Given the description of an element on the screen output the (x, y) to click on. 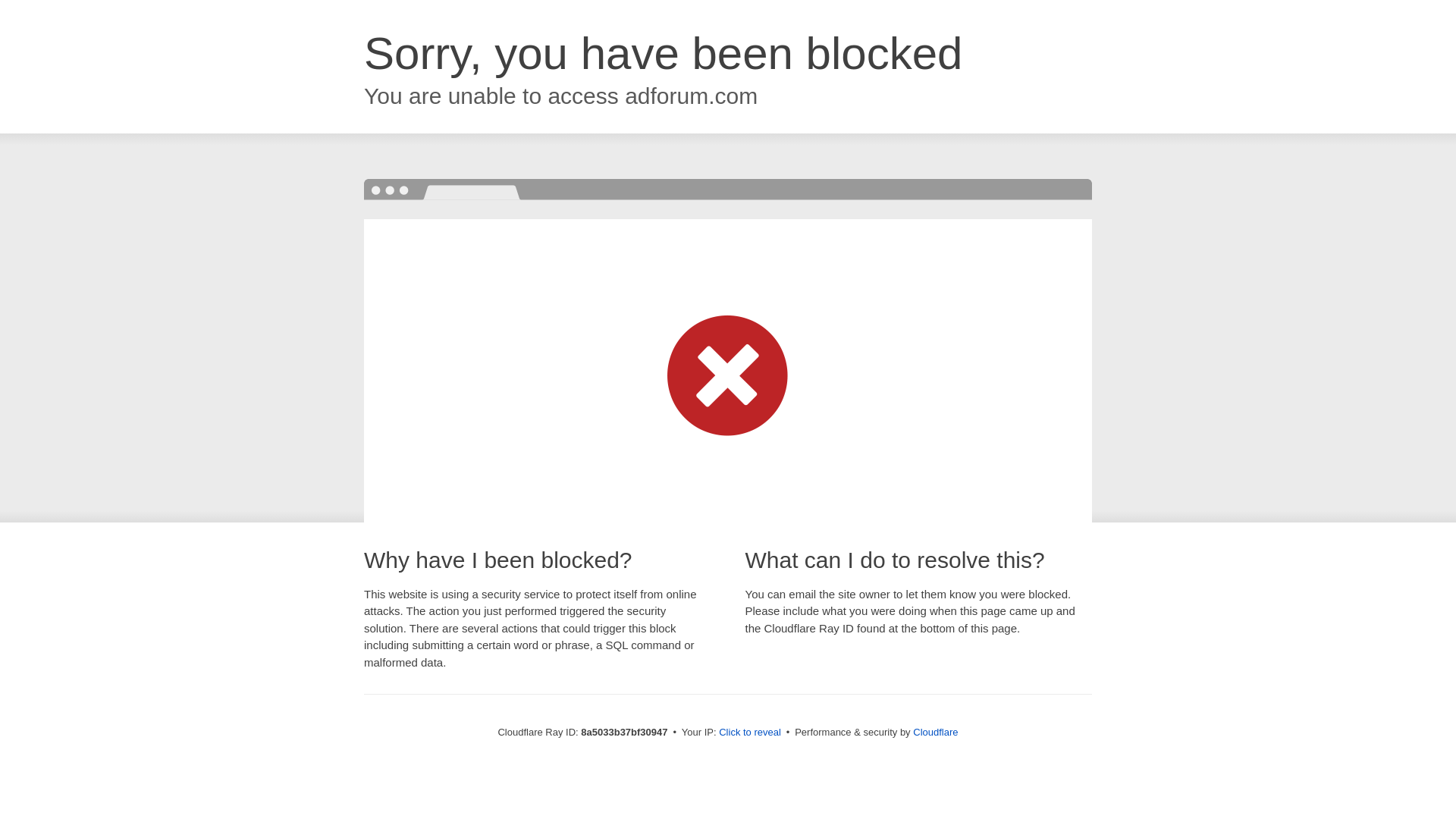
Cloudflare (935, 731)
Click to reveal (749, 732)
